Given the description of an element on the screen output the (x, y) to click on. 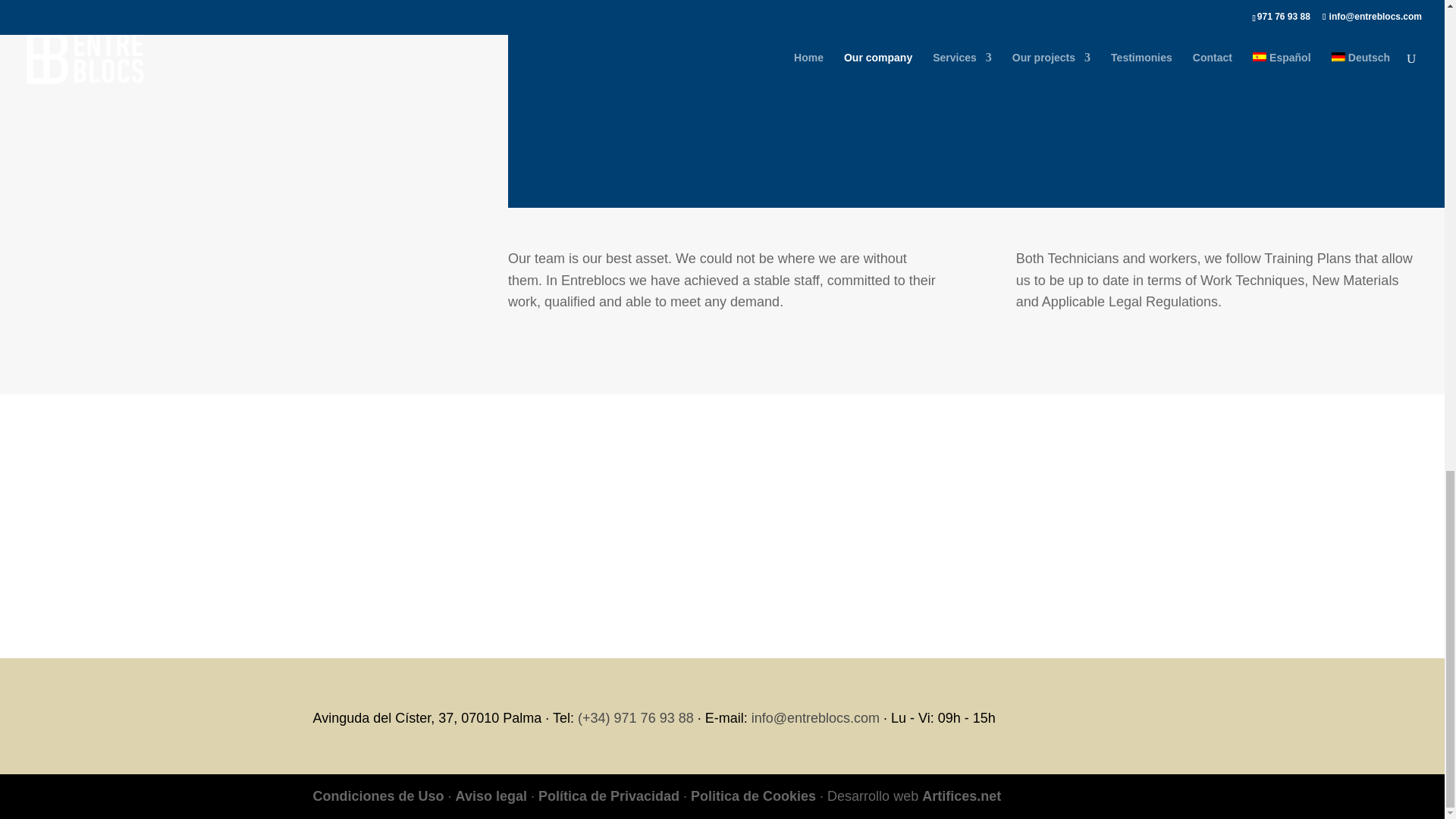
Condiciones de Uso (378, 795)
Artifices.net (961, 795)
Politica de Cookies (752, 795)
Aviso legal (491, 795)
